Given the description of an element on the screen output the (x, y) to click on. 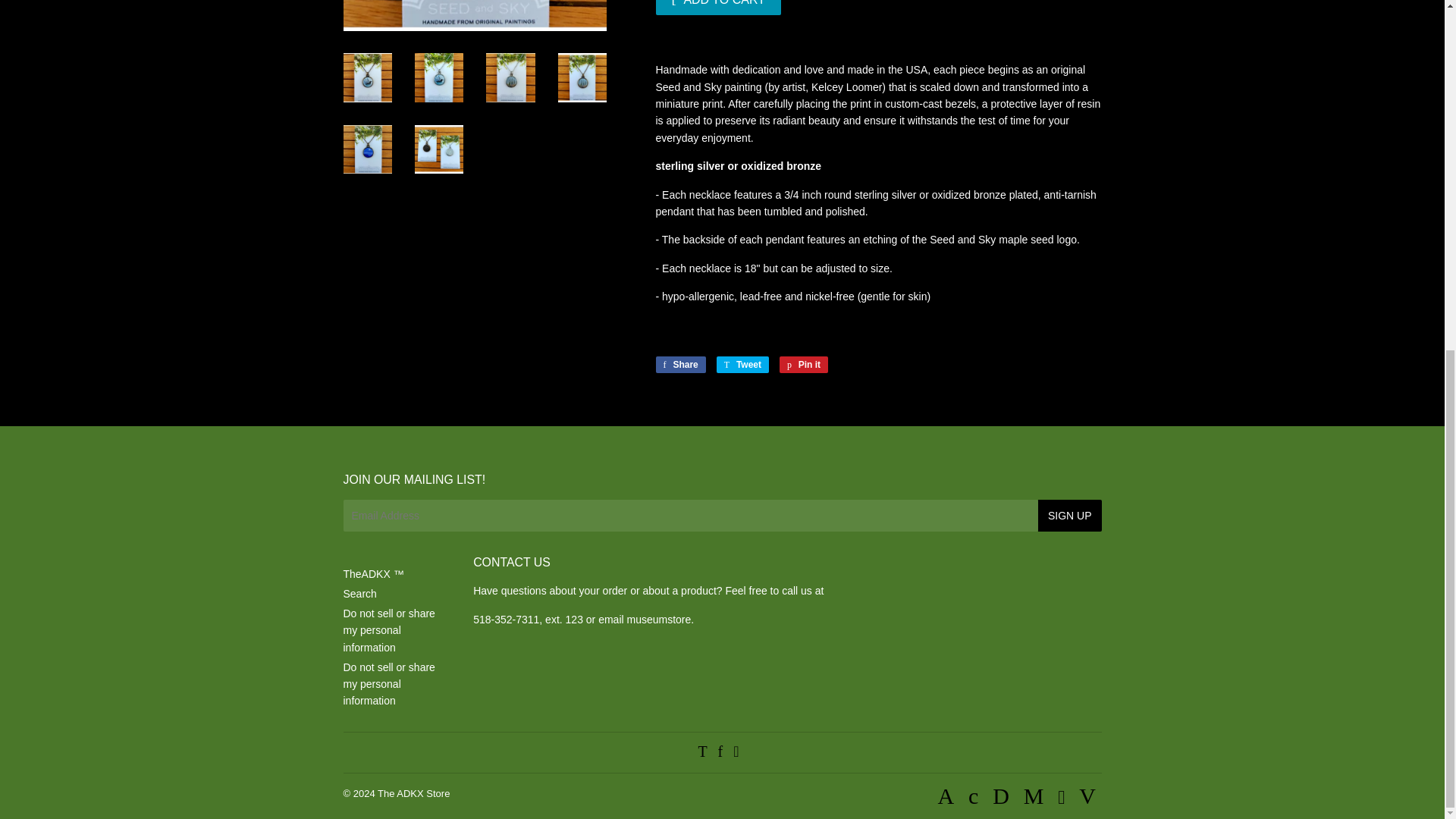
Tweet on Twitter (742, 364)
Pin on Pinterest (803, 364)
Share on Facebook (679, 364)
